Given the description of an element on the screen output the (x, y) to click on. 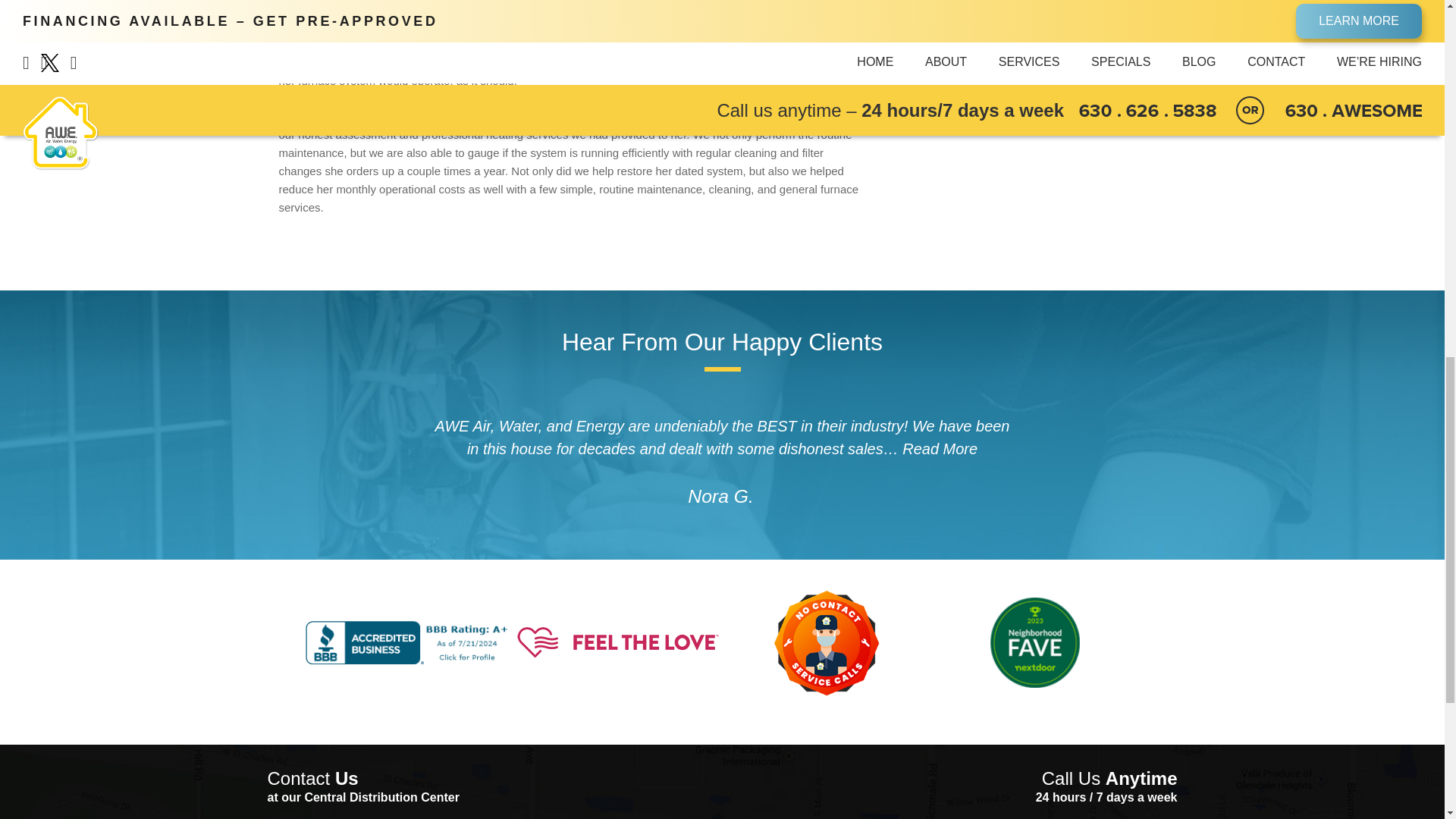
Read More (939, 449)
